Given the description of an element on the screen output the (x, y) to click on. 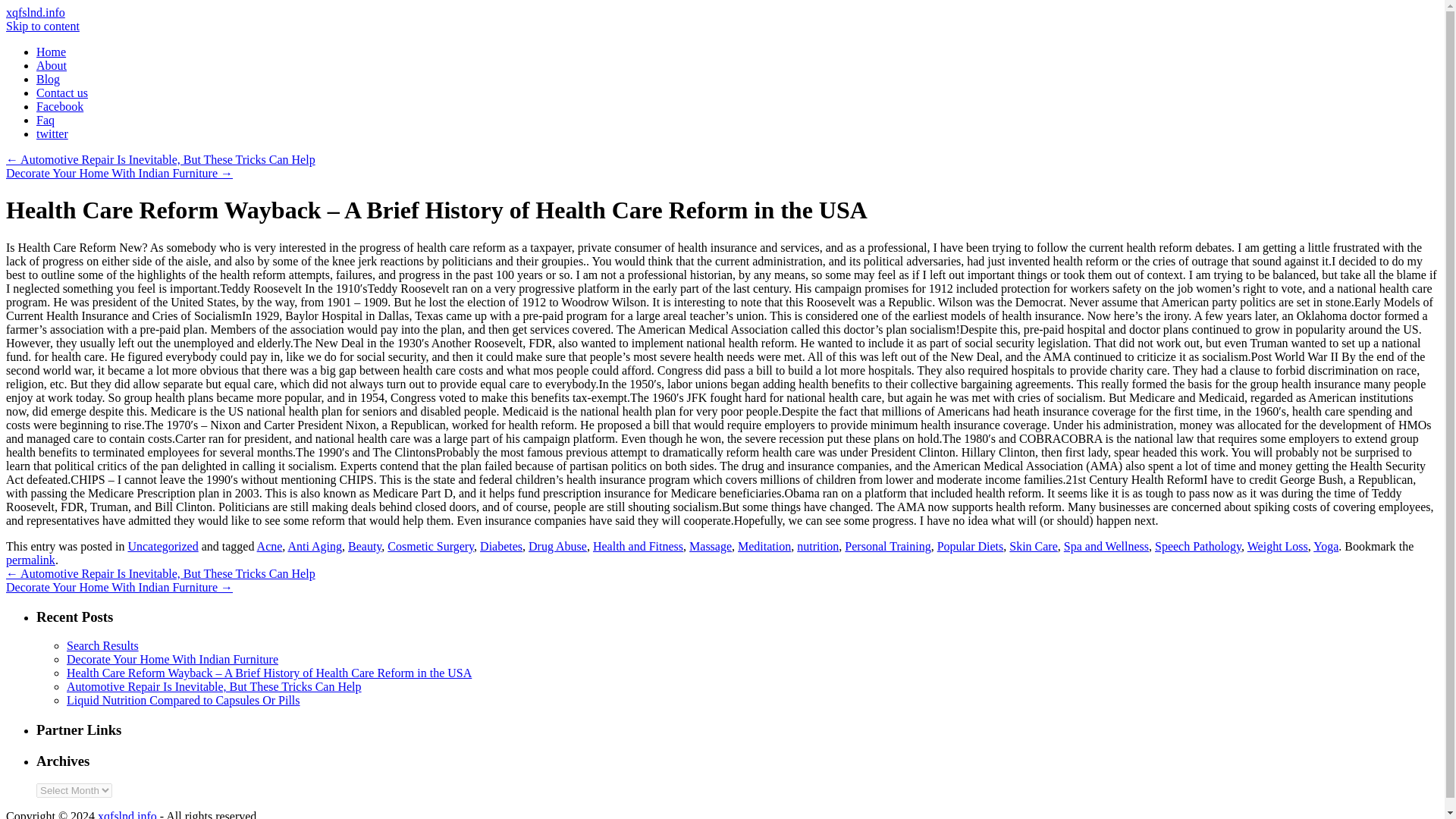
Yoga (1325, 545)
Blog (47, 78)
About (51, 65)
Speech Pathology (1197, 545)
nutrition (817, 545)
Facebook (59, 106)
Search Results (102, 645)
Home (50, 51)
twitter (52, 133)
View all posts in Uncategorized (163, 545)
Liquid Nutrition Compared to Capsules Or Pills (182, 699)
Skip to content (42, 25)
Home (50, 51)
Blog (47, 78)
Skip to content (42, 25)
